Given the description of an element on the screen output the (x, y) to click on. 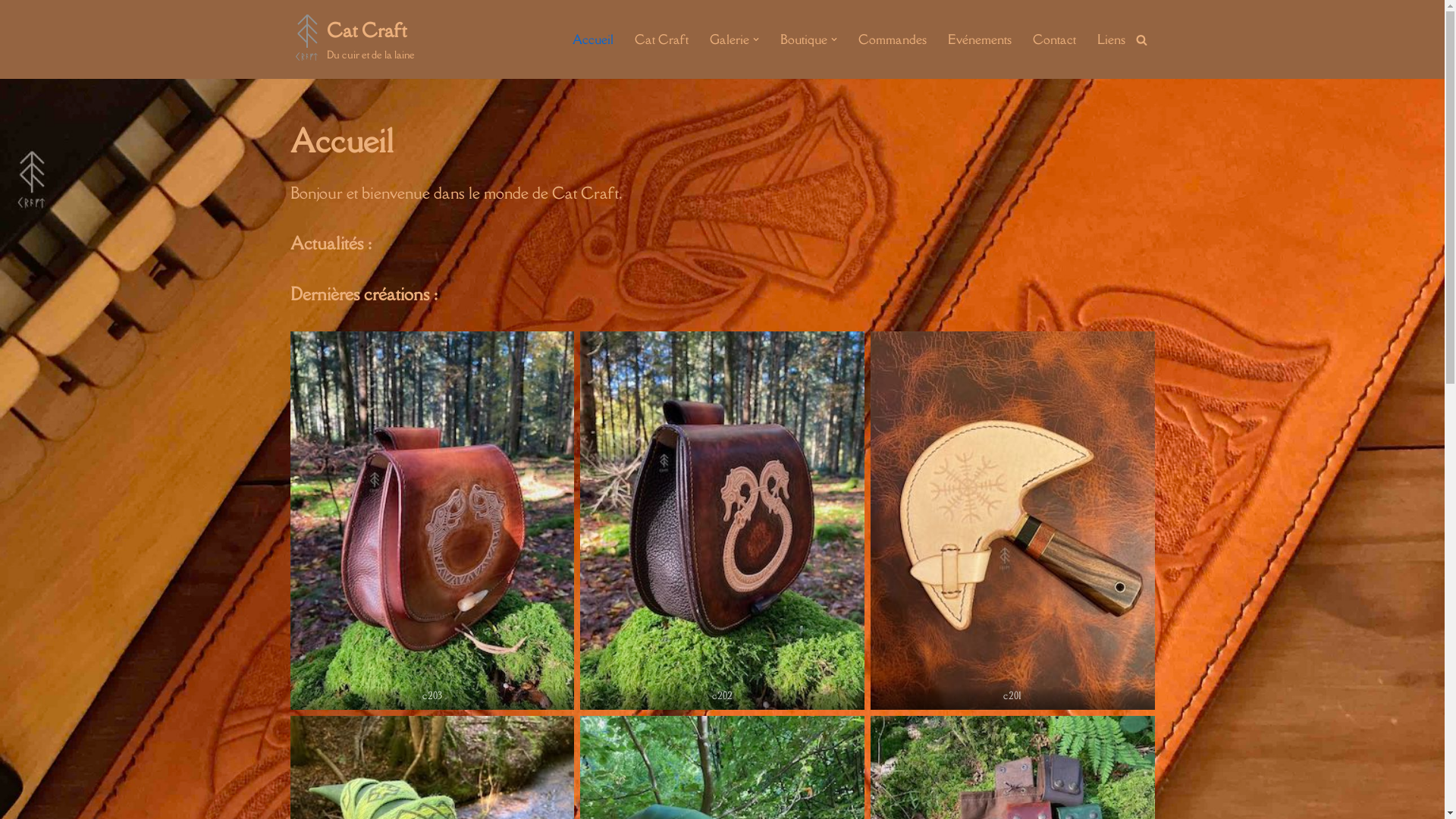
Aller au contenu Element type: text (11, 31)
Accueil Element type: text (591, 39)
Galerie Element type: text (729, 39)
Cat Craft Element type: text (660, 39)
Contact Element type: text (1054, 39)
Boutique Element type: text (802, 39)
Liens Element type: text (1110, 39)
Cat Craft
Du cuir et de la laine Element type: text (351, 39)
Commandes Element type: text (892, 39)
